Given the description of an element on the screen output the (x, y) to click on. 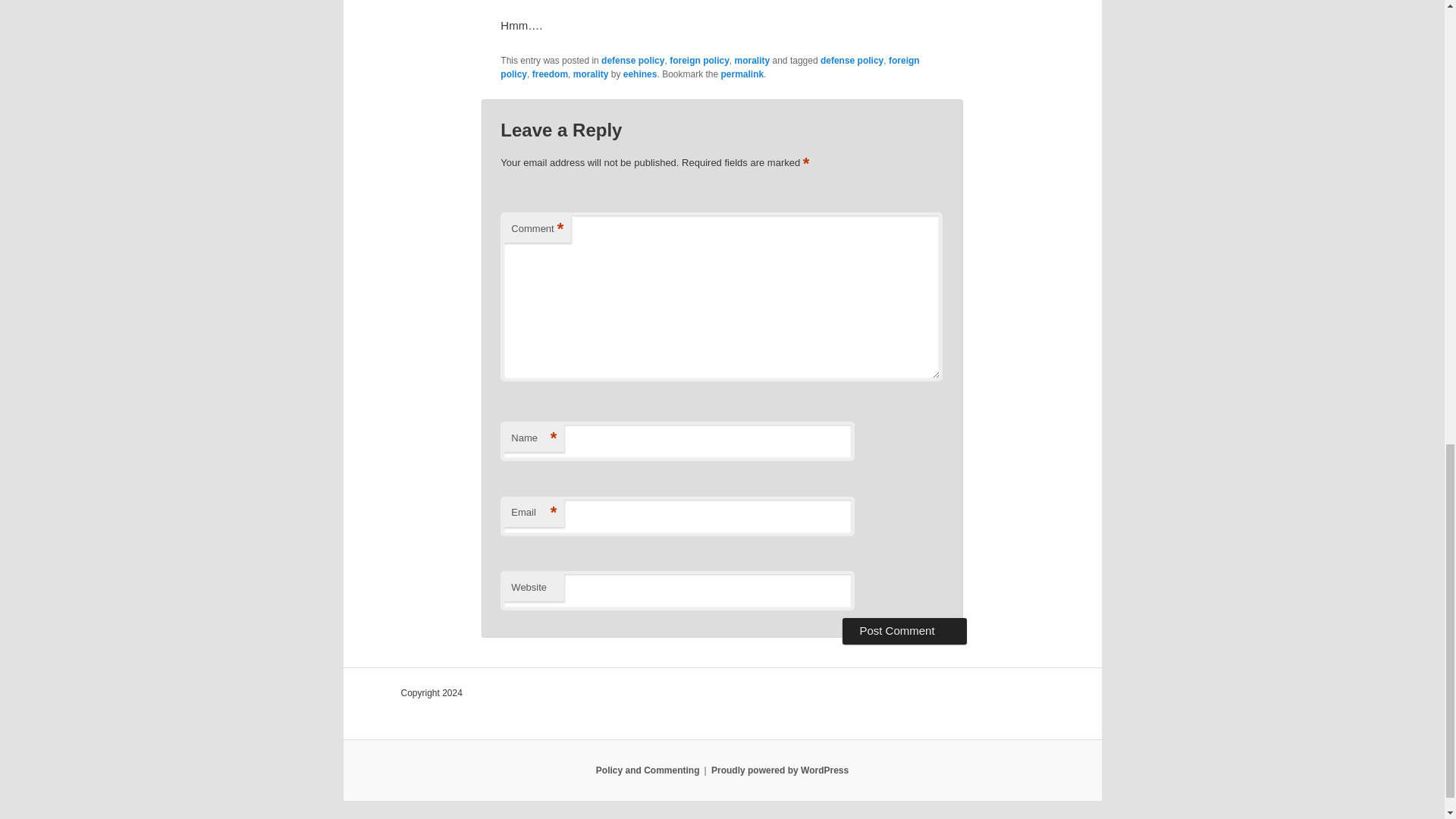
foreign policy (709, 67)
Permalink to Europe and Terrorism (742, 73)
Post Comment (904, 630)
freedom (549, 73)
permalink (742, 73)
Semantic Personal Publishing Platform (779, 769)
Post Comment (904, 630)
foreign policy (699, 60)
morality (590, 73)
eehines (640, 73)
